Given the description of an element on the screen output the (x, y) to click on. 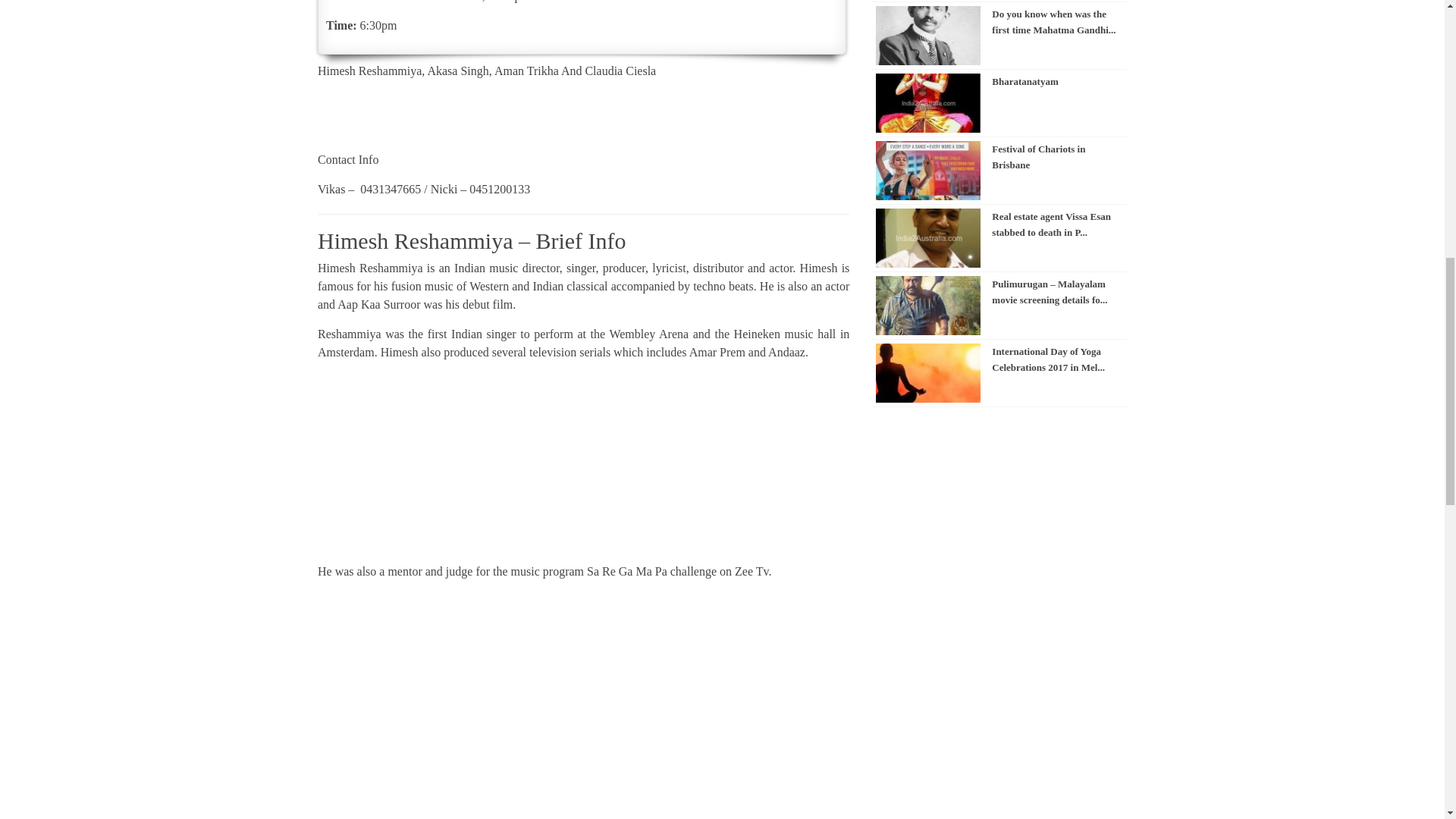
Advertisement (582, 467)
